Given the description of an element on the screen output the (x, y) to click on. 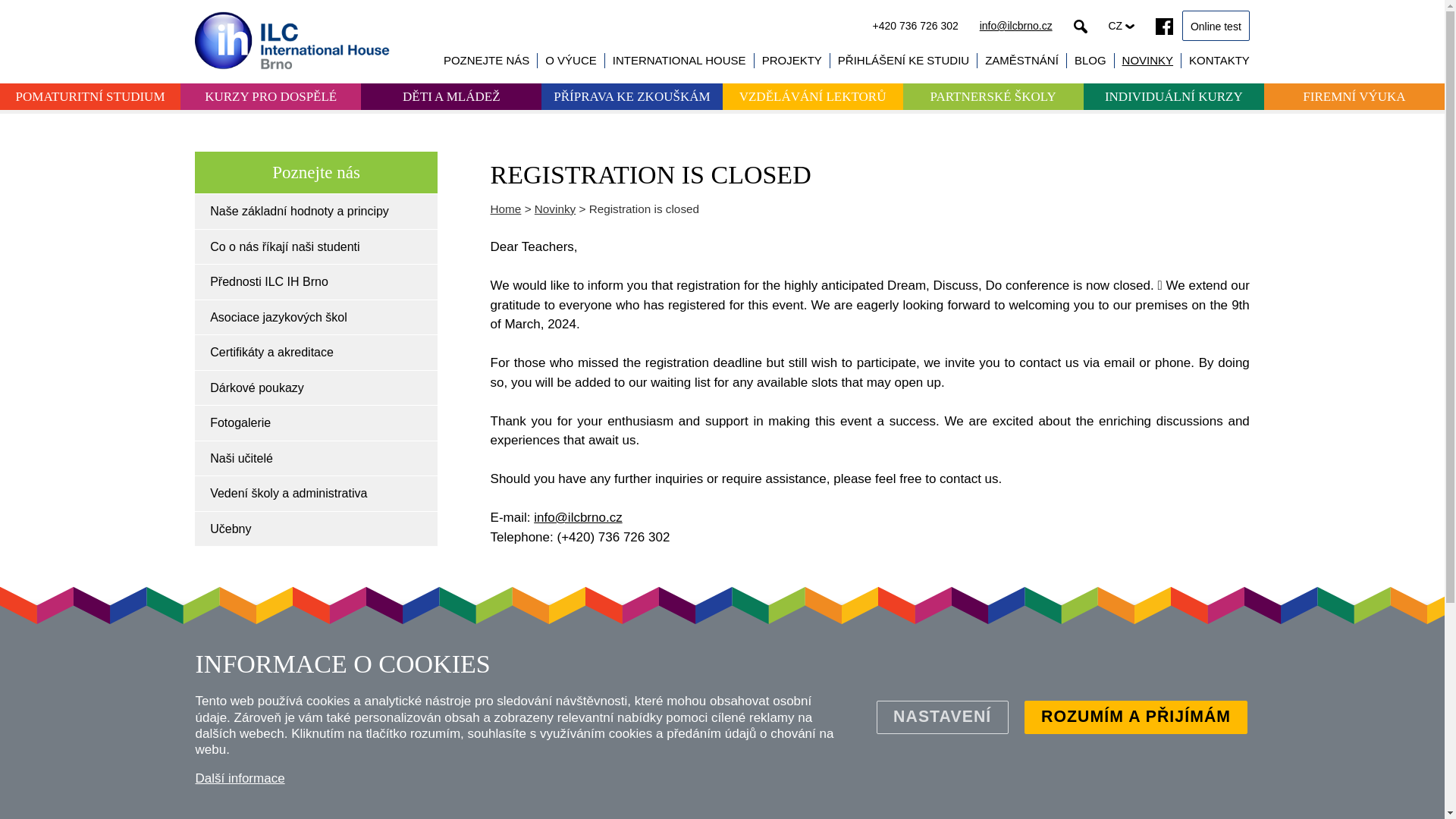
Novinky (1147, 60)
Novinky (554, 207)
NOVINKY (1147, 60)
Kontakty (1219, 60)
Projekty (791, 60)
PROJEKTY (791, 60)
INTERNATIONAL HOUSE (678, 60)
KONTAKTY (1219, 60)
BLOG (1090, 60)
International House World Organisation (678, 60)
